Given the description of an element on the screen output the (x, y) to click on. 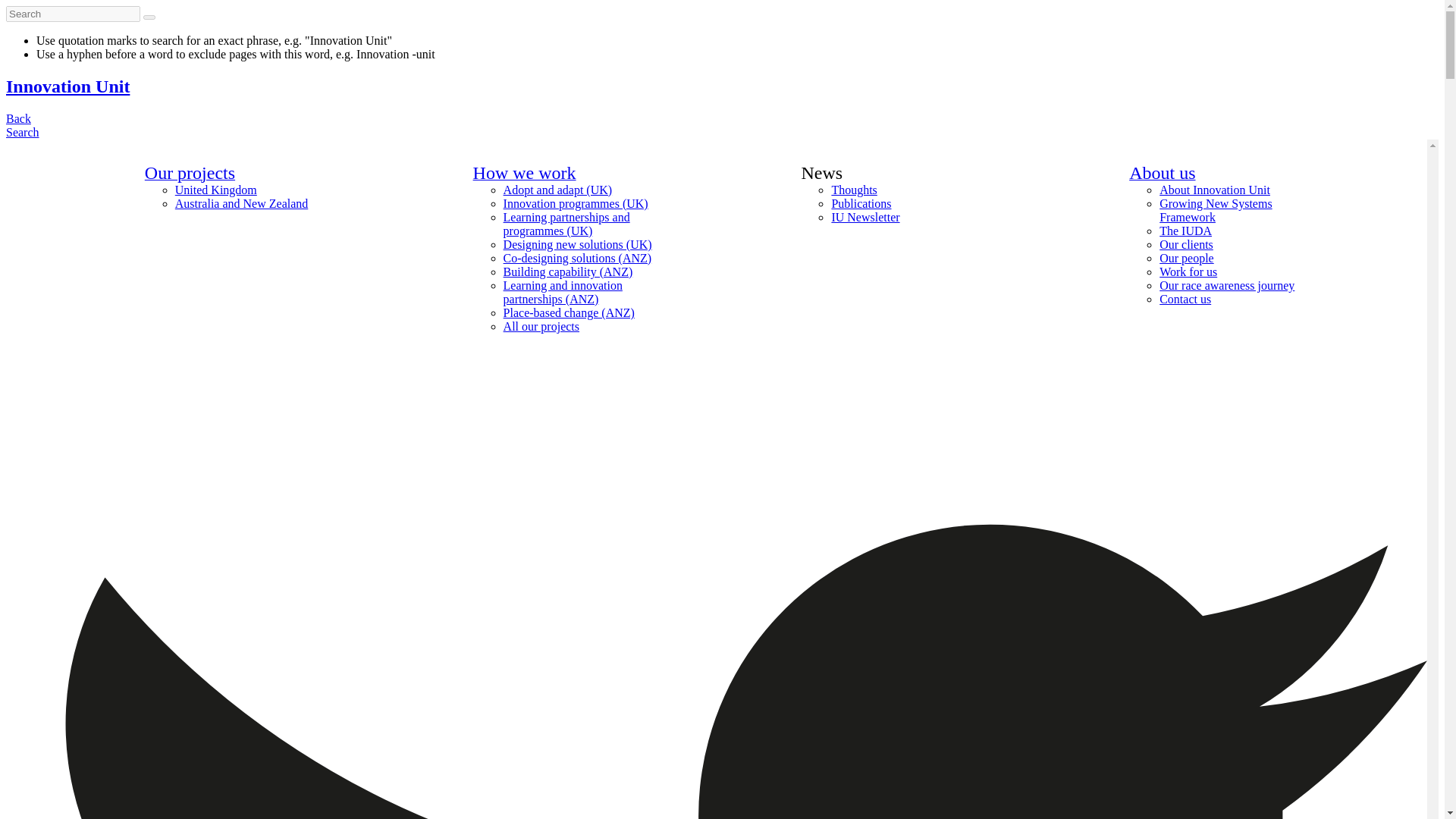
United Kingdom (215, 189)
Publications (861, 203)
Our race awareness journey (1226, 285)
Back (17, 118)
Our clients (1185, 244)
Australia and New Zealand (240, 203)
Contact us (1184, 298)
How we work (524, 174)
About us (1162, 174)
Our projects (189, 174)
Thoughts (853, 189)
News (821, 174)
Click to Search (148, 17)
Work for us (1187, 271)
IU Newsletter (865, 216)
